Given the description of an element on the screen output the (x, y) to click on. 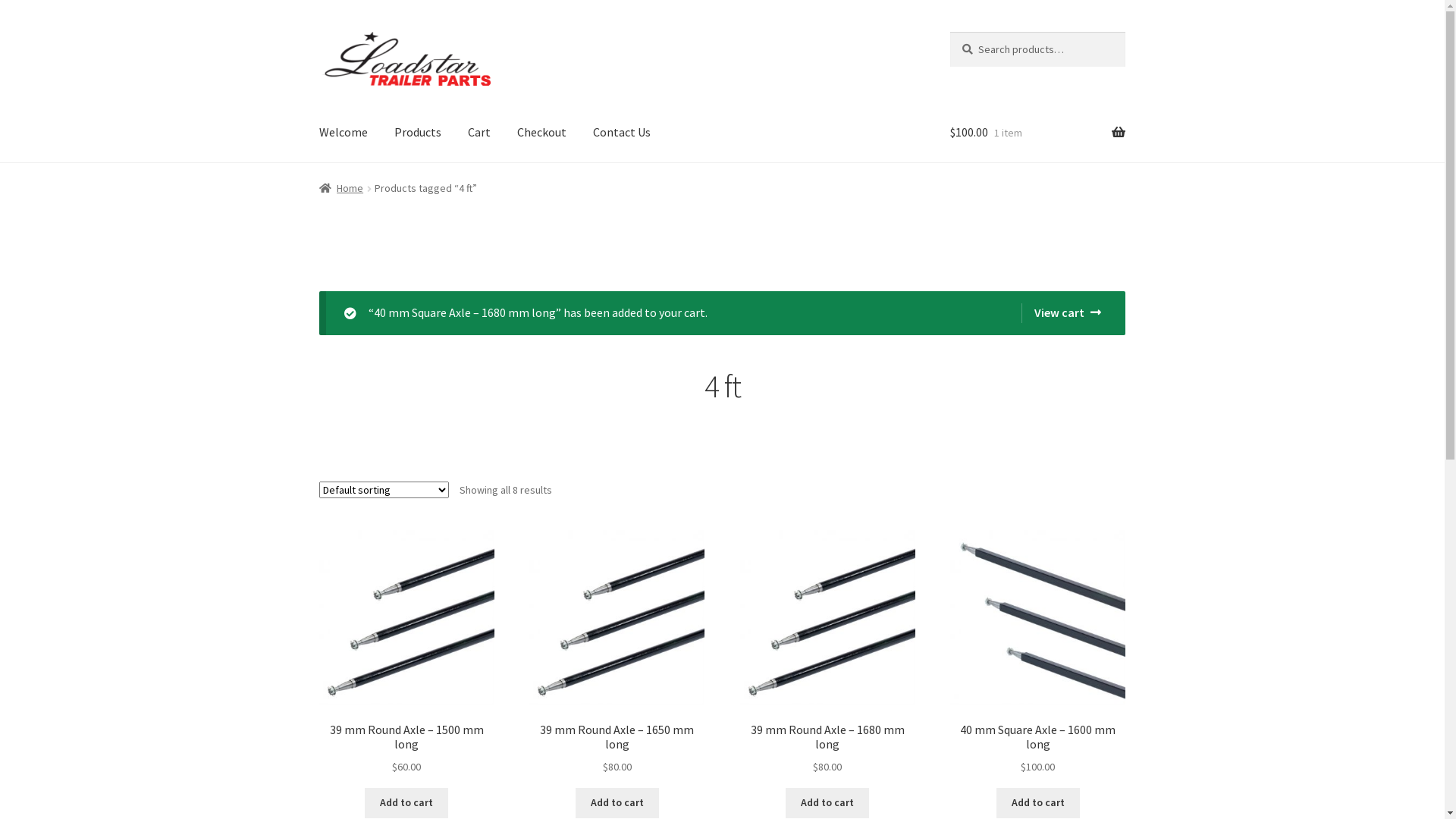
Skip to navigation Element type: text (318, 31)
Checkout Element type: text (541, 132)
Products Element type: text (417, 132)
Add to cart Element type: text (616, 802)
Welcome Element type: text (343, 132)
Add to cart Element type: text (827, 802)
$100.00 1 item Element type: text (1037, 132)
Cart Element type: text (478, 132)
Search Element type: text (949, 31)
Add to cart Element type: text (1037, 802)
View cart Element type: text (1061, 313)
Home Element type: text (341, 187)
Contact Us Element type: text (621, 132)
Add to cart Element type: text (406, 802)
